Given the description of an element on the screen output the (x, y) to click on. 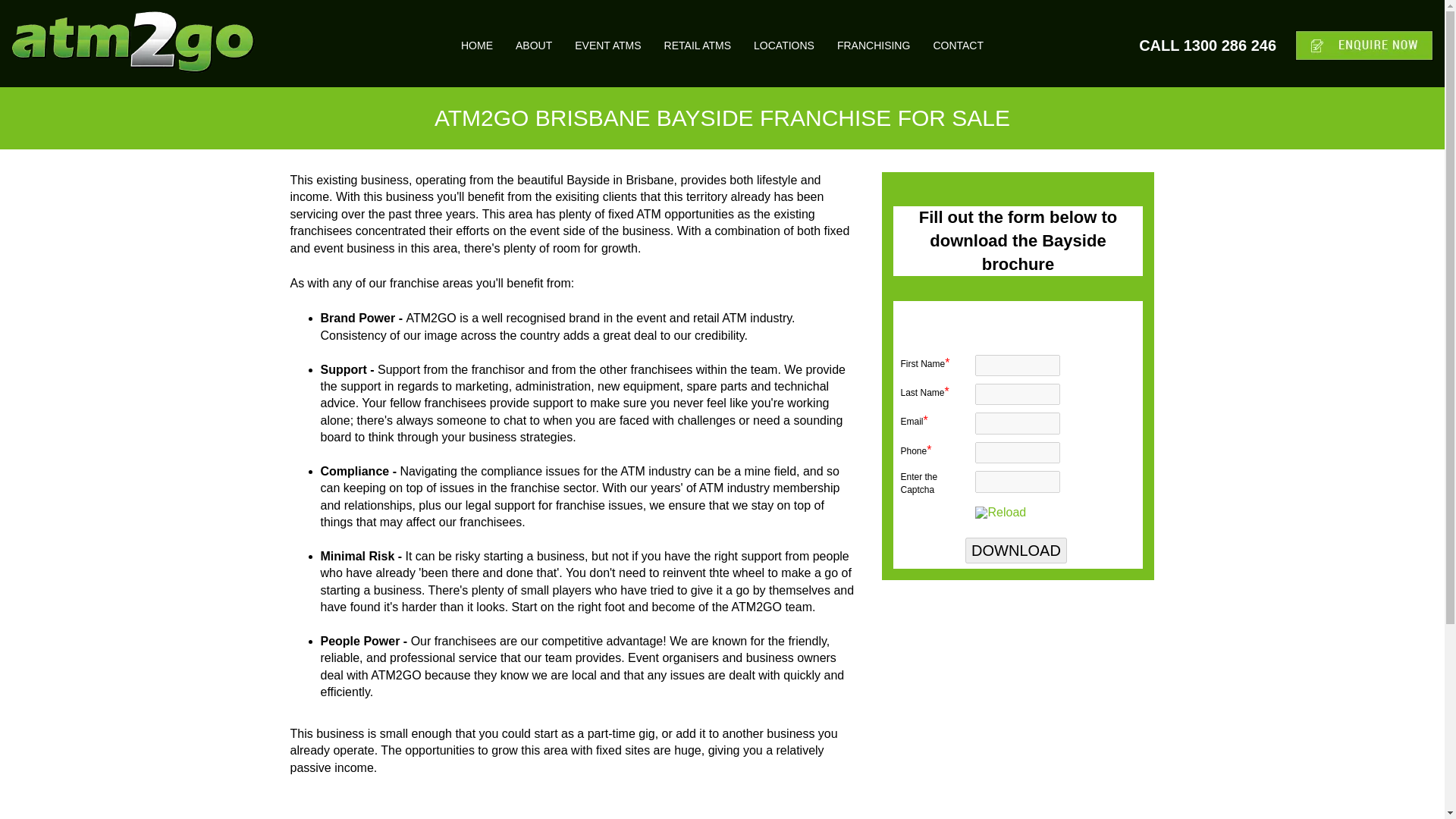
CONTACT (957, 43)
CALL 1300 286 246 (1196, 45)
EVENT ATMS (607, 43)
LOCATIONS (783, 43)
RETAIL ATMS (697, 43)
FRANCHISING (873, 43)
ABOUT (533, 43)
HOME (476, 43)
DOWNLOAD (1016, 550)
